Given the description of an element on the screen output the (x, y) to click on. 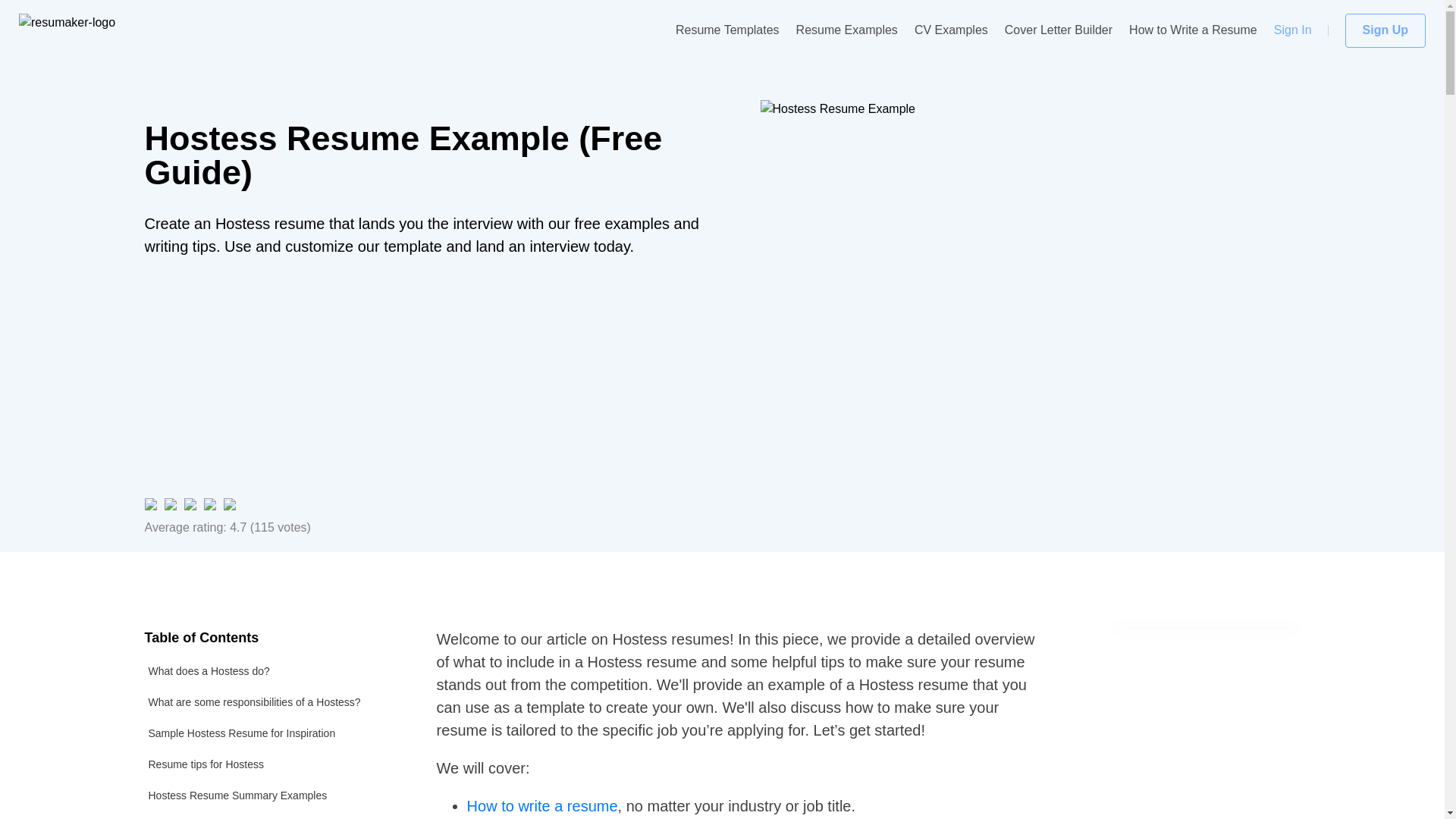
Hostess Resume Summary Examples (270, 795)
Resume Examples (847, 30)
Cover Letter Builder (1058, 30)
Sample Hostess Resume for Inspiration (270, 733)
What does a Hostess do? (270, 671)
CV Examples (951, 30)
Resume Templates (726, 30)
Build a Strong Experience Section for Your Hostess Resume (270, 815)
How to Write a Resume (1193, 30)
Resume tips for Hostess (270, 764)
